Given the description of an element on the screen output the (x, y) to click on. 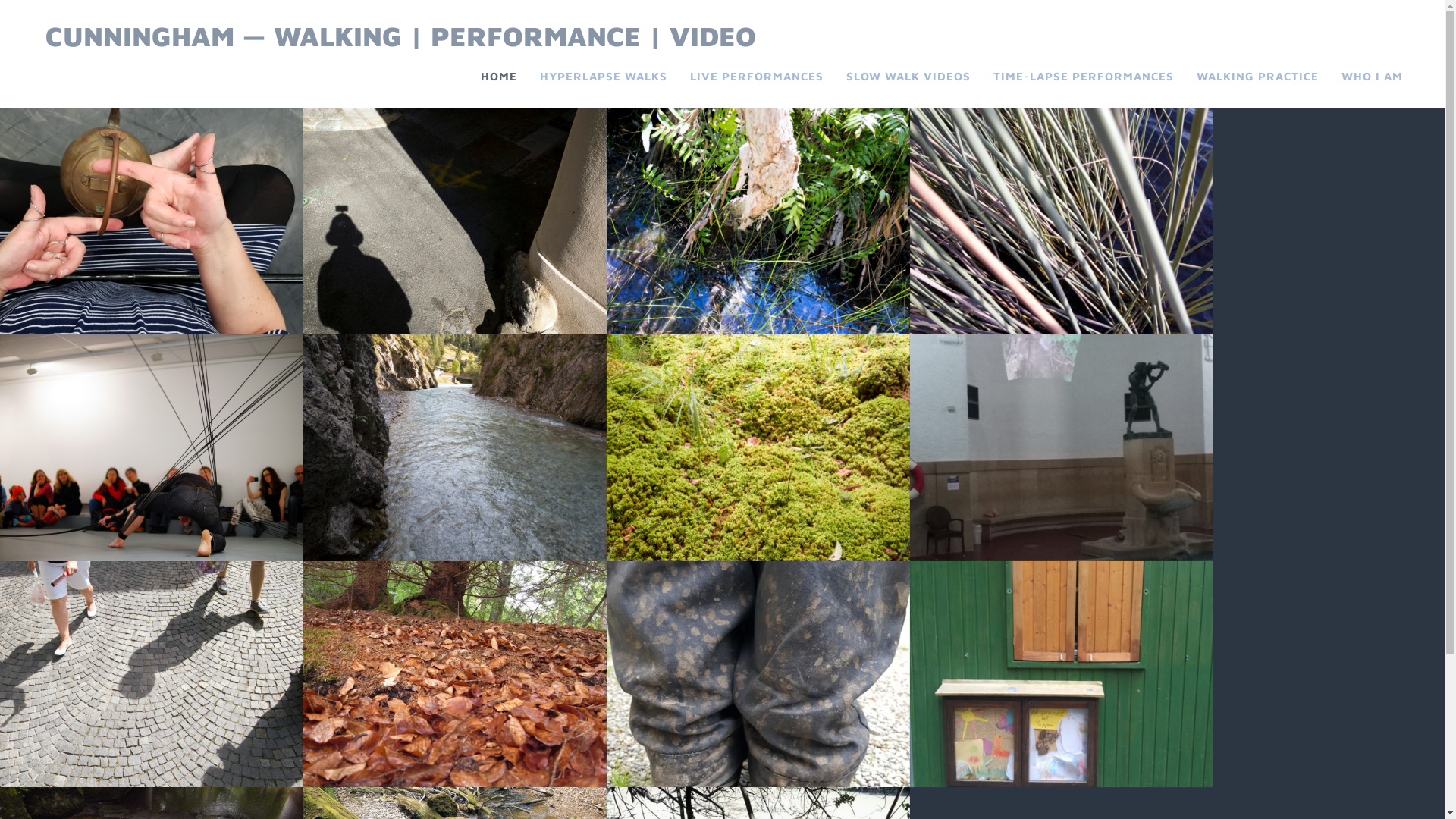
HYPERLAPSE WALKS Element type: text (603, 76)
HOME Element type: text (498, 76)
SLOW WALK VIDEOS Element type: text (908, 76)
WALKING PRACTICE Element type: text (1257, 76)
TIME-LAPSE PERFORMANCES Element type: text (1083, 76)
LIVE PERFORMANCES Element type: text (756, 76)
WHO I AM Element type: text (1371, 76)
